Given the description of an element on the screen output the (x, y) to click on. 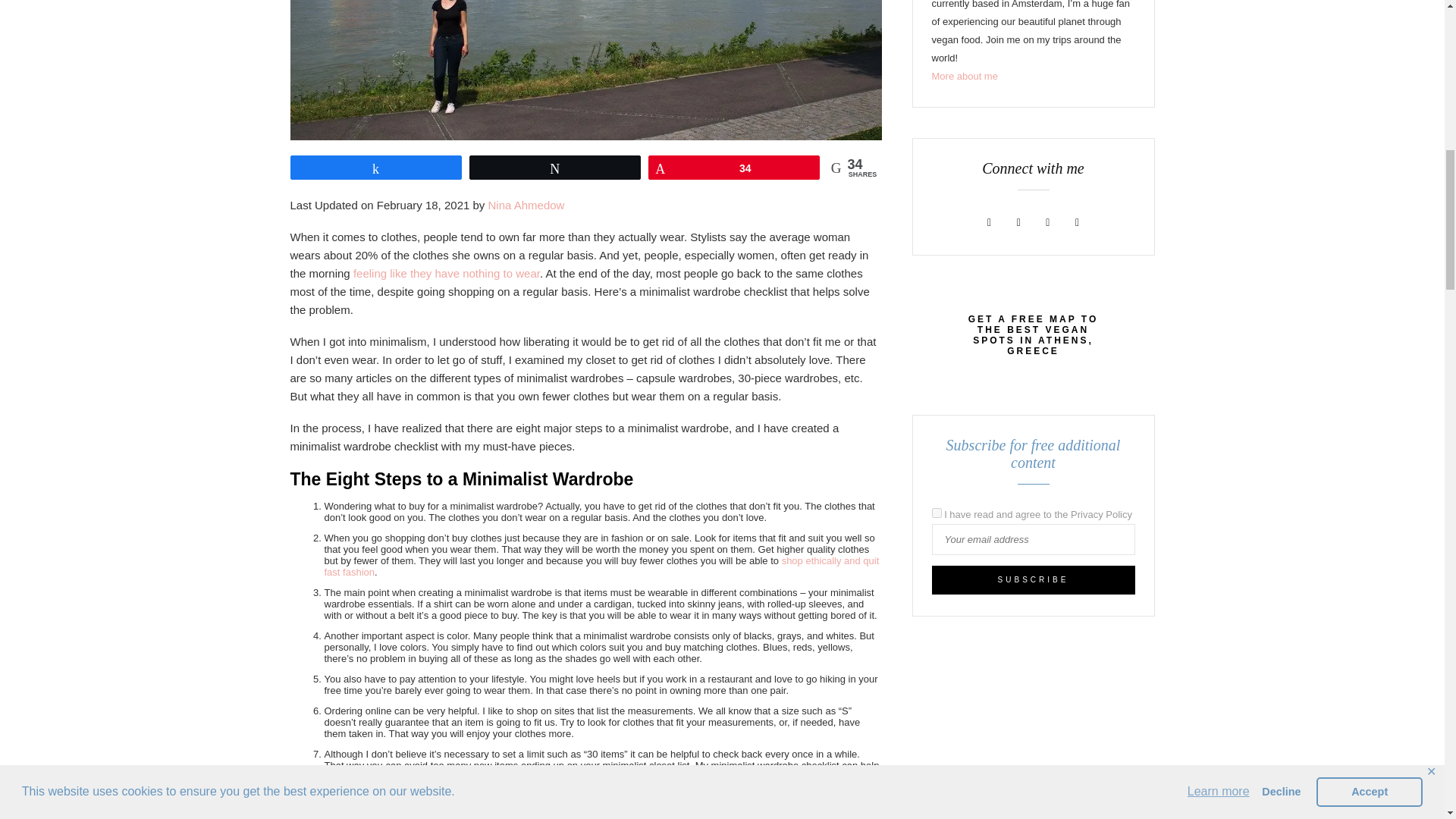
1 (935, 512)
34 (733, 167)
Nina Ahmedow (525, 205)
feeling like they have nothing to wear (446, 273)
shop ethically and quit fast fashion (601, 566)
Subscribe (1032, 579)
